Given the description of an element on the screen output the (x, y) to click on. 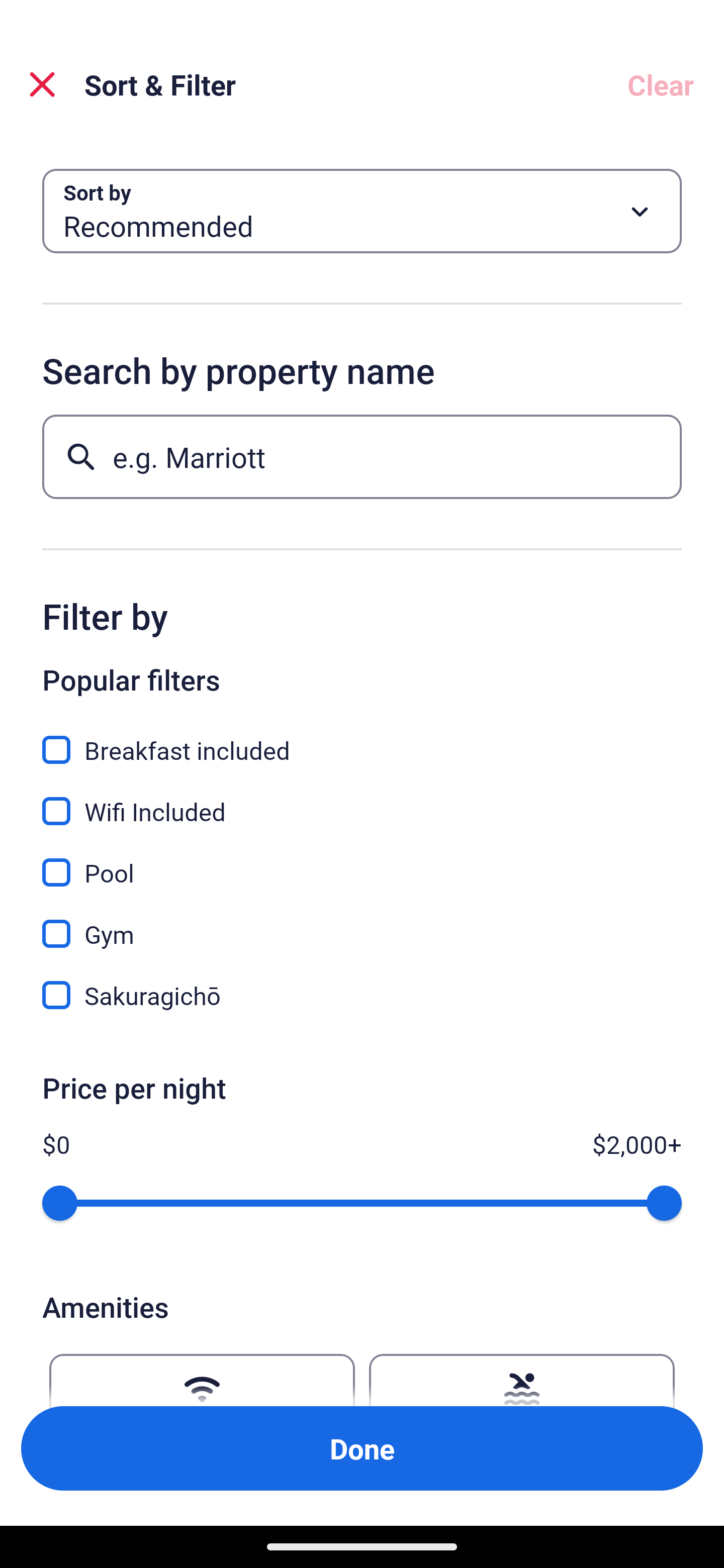
Close Sort and Filter (42, 84)
Clear (660, 84)
Sort by Button Recommended (361, 211)
e.g. Marriott Button (361, 455)
Breakfast included, Breakfast included (361, 738)
Wifi Included, Wifi Included (361, 800)
Pool, Pool (361, 861)
Gym, Gym (361, 922)
Sakuragichō, Sakuragichō (361, 995)
Apply and close Sort and Filter Done (361, 1448)
